Given the description of an element on the screen output the (x, y) to click on. 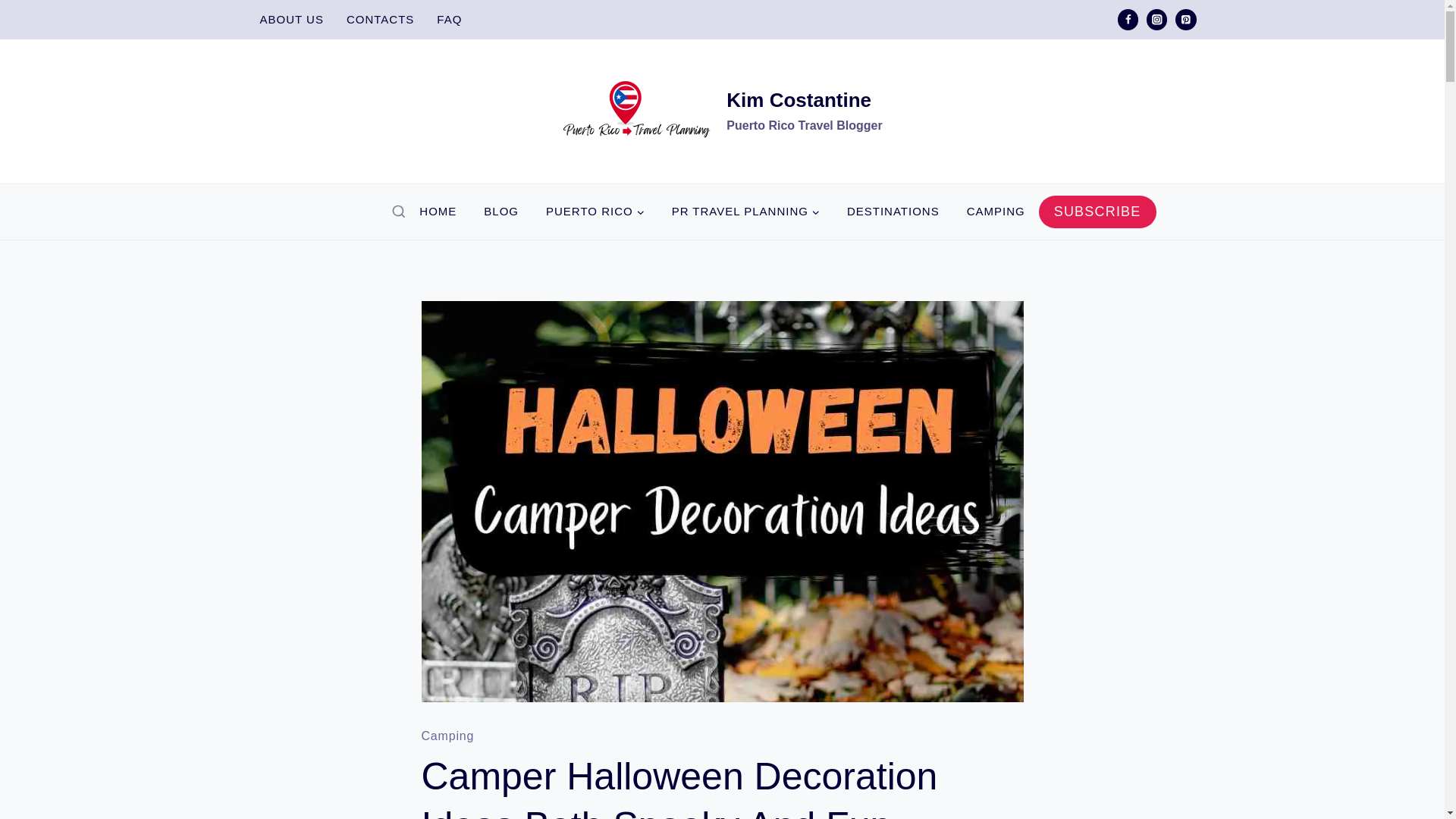
SUBSCRIBE (1097, 211)
PR TRAVEL PLANNING (745, 211)
DESTINATIONS (892, 211)
FAQ (449, 20)
PUERTO RICO (722, 111)
Camping (595, 211)
HOME (448, 735)
CAMPING (438, 211)
ABOUT US (996, 211)
CONTACTS (291, 20)
BLOG (379, 20)
